Given the description of an element on the screen output the (x, y) to click on. 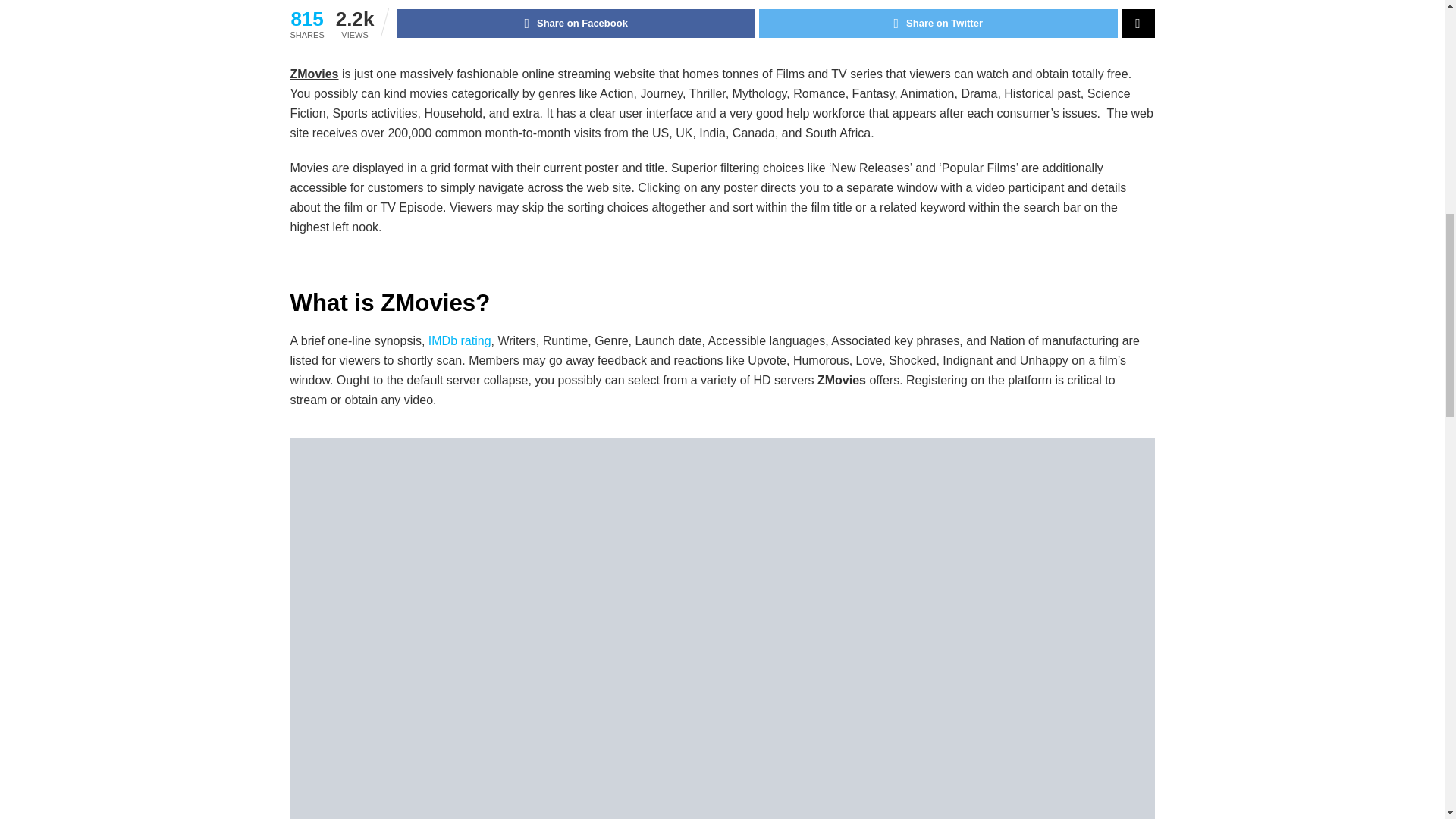
Share on Twitter (938, 23)
Share on Facebook (575, 23)
IMDb rating (460, 340)
